Given the description of an element on the screen output the (x, y) to click on. 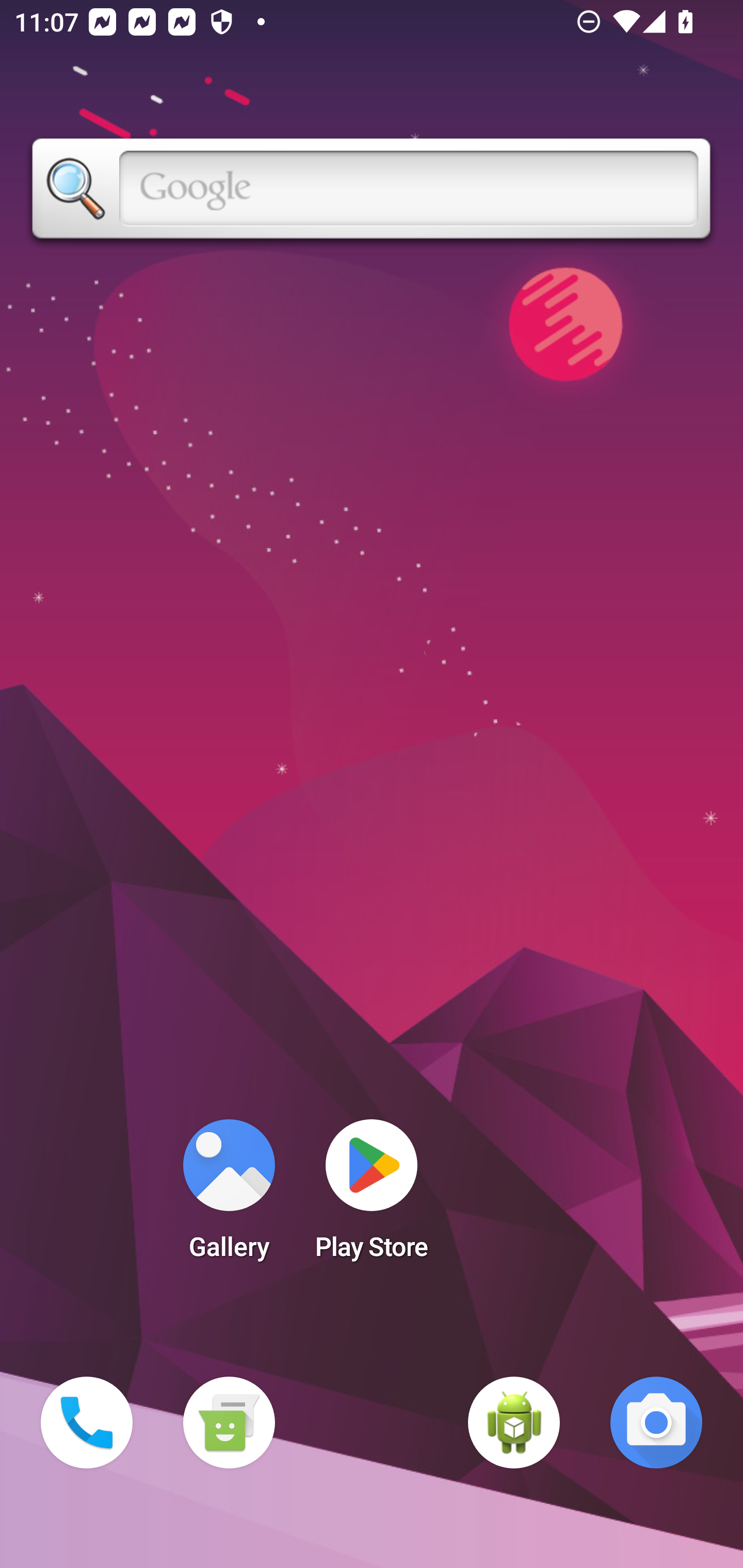
Gallery (228, 1195)
Play Store (371, 1195)
Phone (86, 1422)
Messaging (228, 1422)
WebView Browser Tester (513, 1422)
Camera (656, 1422)
